Given the description of an element on the screen output the (x, y) to click on. 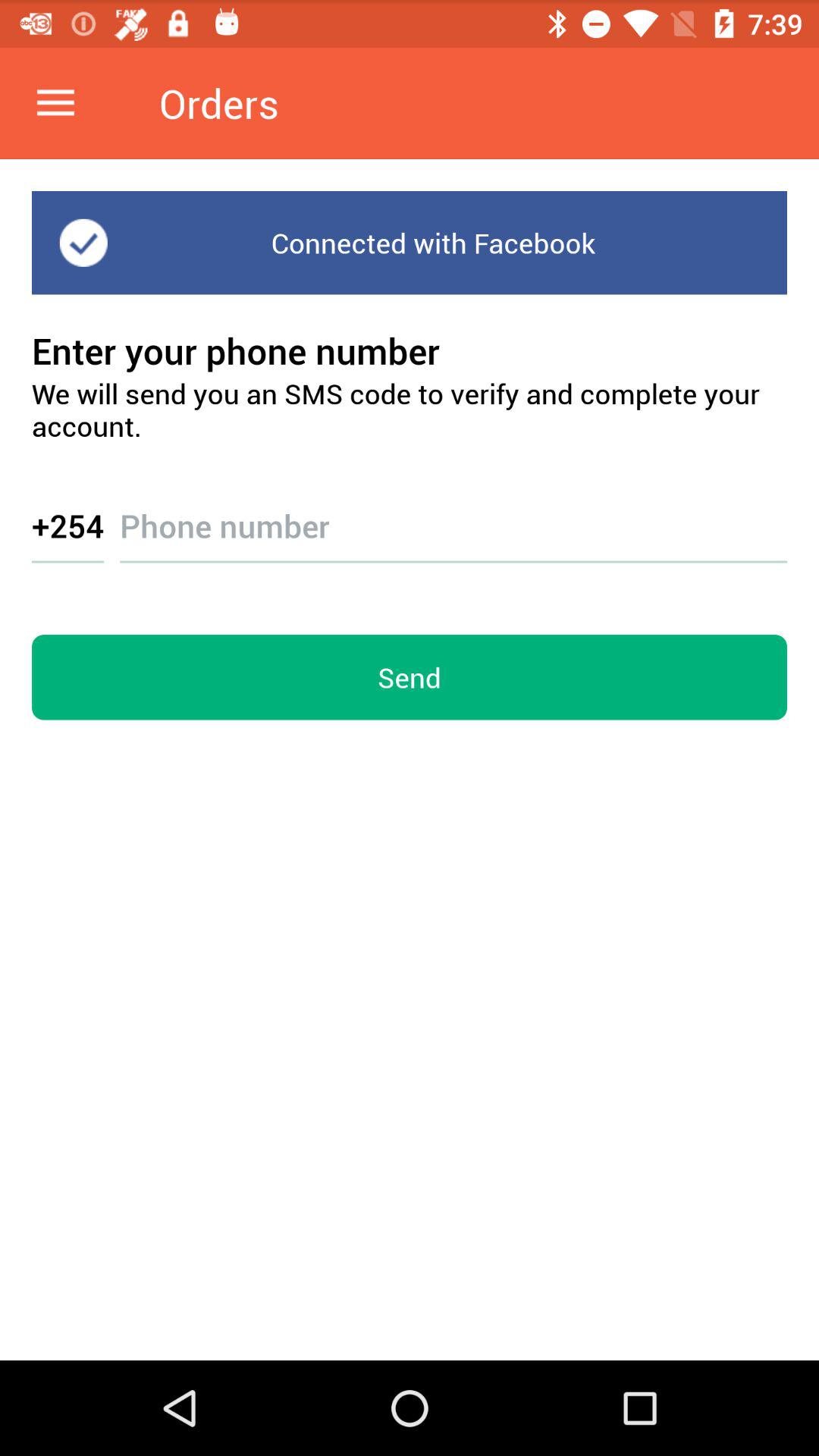
select the item below the we will send item (453, 511)
